Given the description of an element on the screen output the (x, y) to click on. 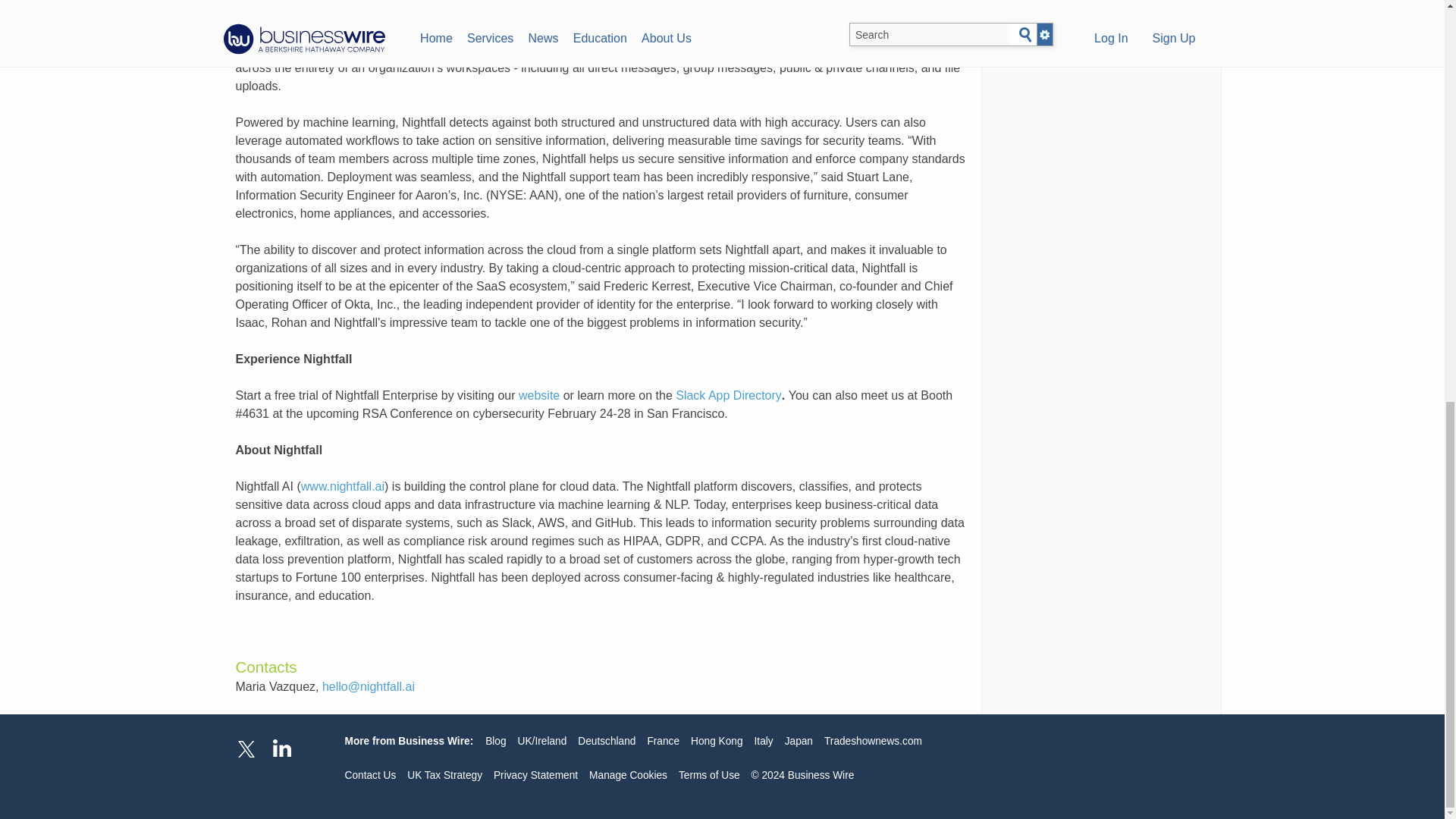
Slack App Directory (728, 395)
website (538, 395)
www.nightfall.ai (342, 486)
